Given the description of an element on the screen output the (x, y) to click on. 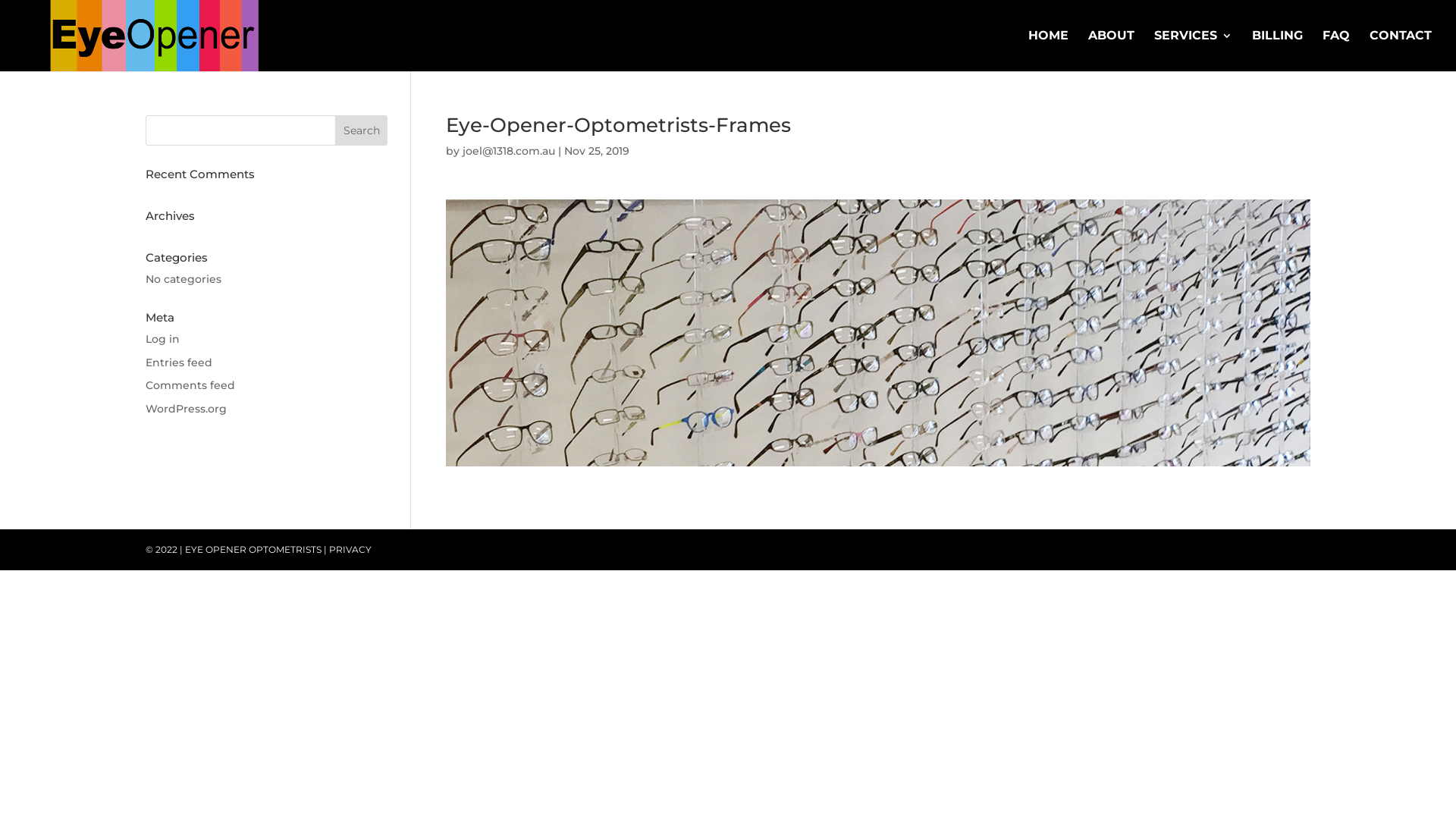
FAQ Element type: text (1335, 50)
BILLING Element type: text (1277, 50)
SERVICES Element type: text (1193, 50)
CONTACT Element type: text (1400, 50)
Comments feed Element type: text (190, 385)
PRIVACY Element type: text (350, 549)
Entries feed Element type: text (178, 362)
HOME Element type: text (1048, 50)
Log in Element type: text (162, 338)
WordPress.org Element type: text (185, 408)
joel@1318.com.au Element type: text (508, 150)
ABOUT Element type: text (1111, 50)
Search Element type: text (361, 130)
